Given the description of an element on the screen output the (x, y) to click on. 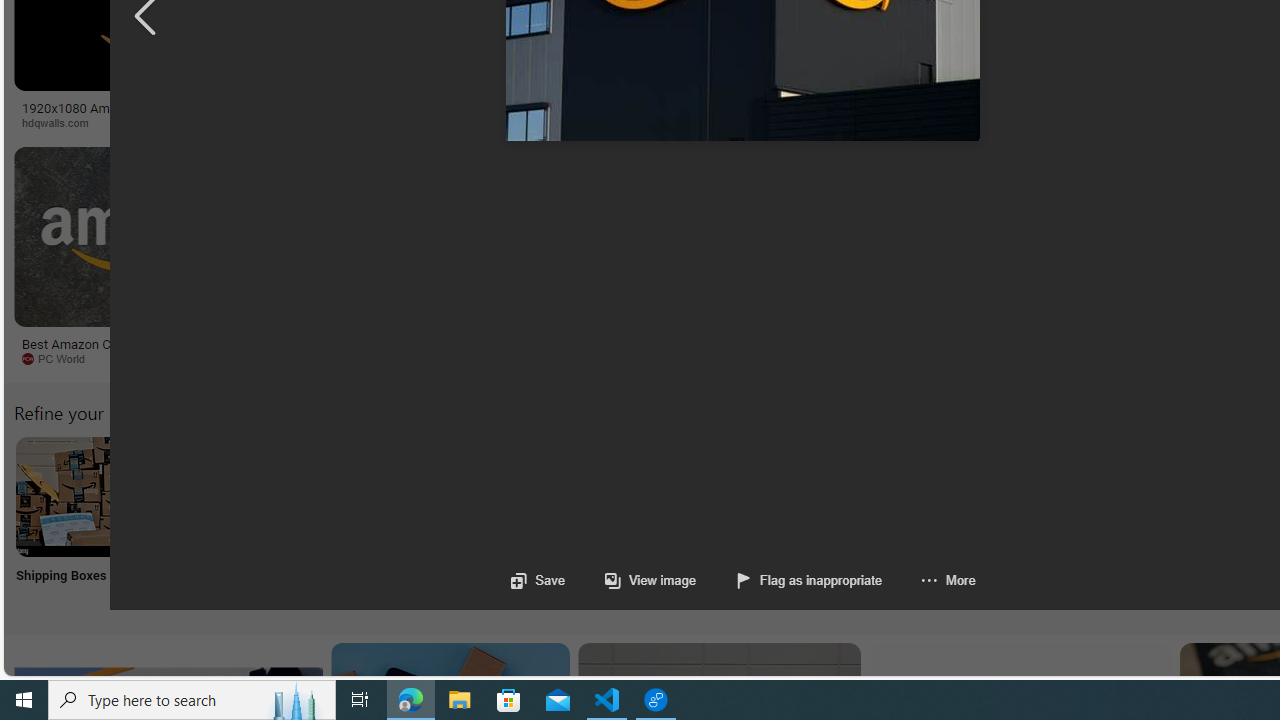
Long Island Press (1043, 121)
Image result for amazon (936, 236)
thewrap.com (826, 358)
Amazon Clip Art (339, 496)
Amazon Online Shopping Search (207, 496)
Marketplace (700, 121)
hdqwalls.com (167, 123)
Amazon Wish List Wish List (999, 521)
Amazon Retail Store Retail Store (867, 521)
